Given the description of an element on the screen output the (x, y) to click on. 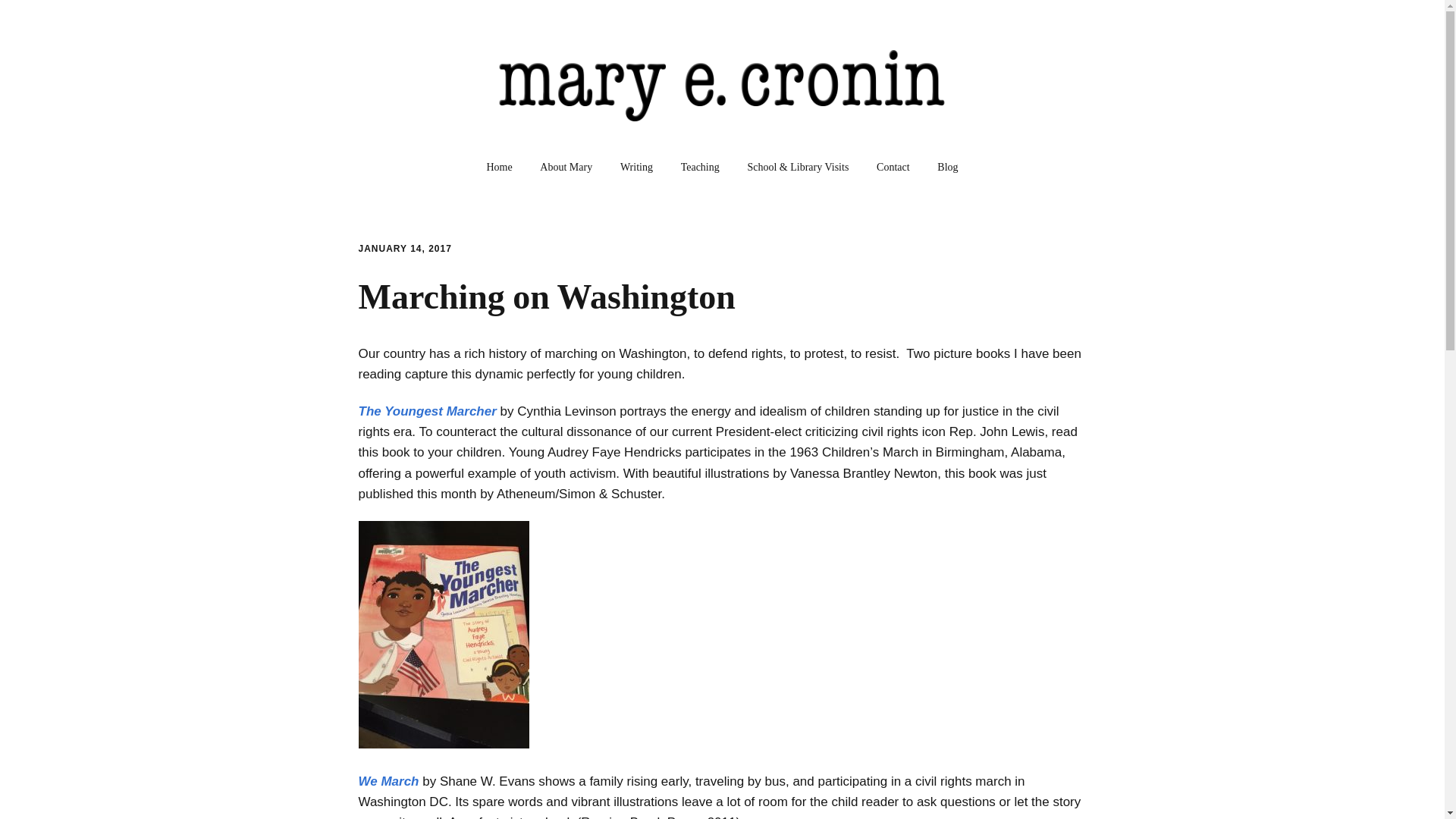
Contact (892, 167)
Teaching (700, 167)
Writing (636, 167)
Home (499, 167)
Blog (946, 167)
We March (388, 780)
The Youngest Marcher (427, 411)
About Mary (565, 167)
